Given the description of an element on the screen output the (x, y) to click on. 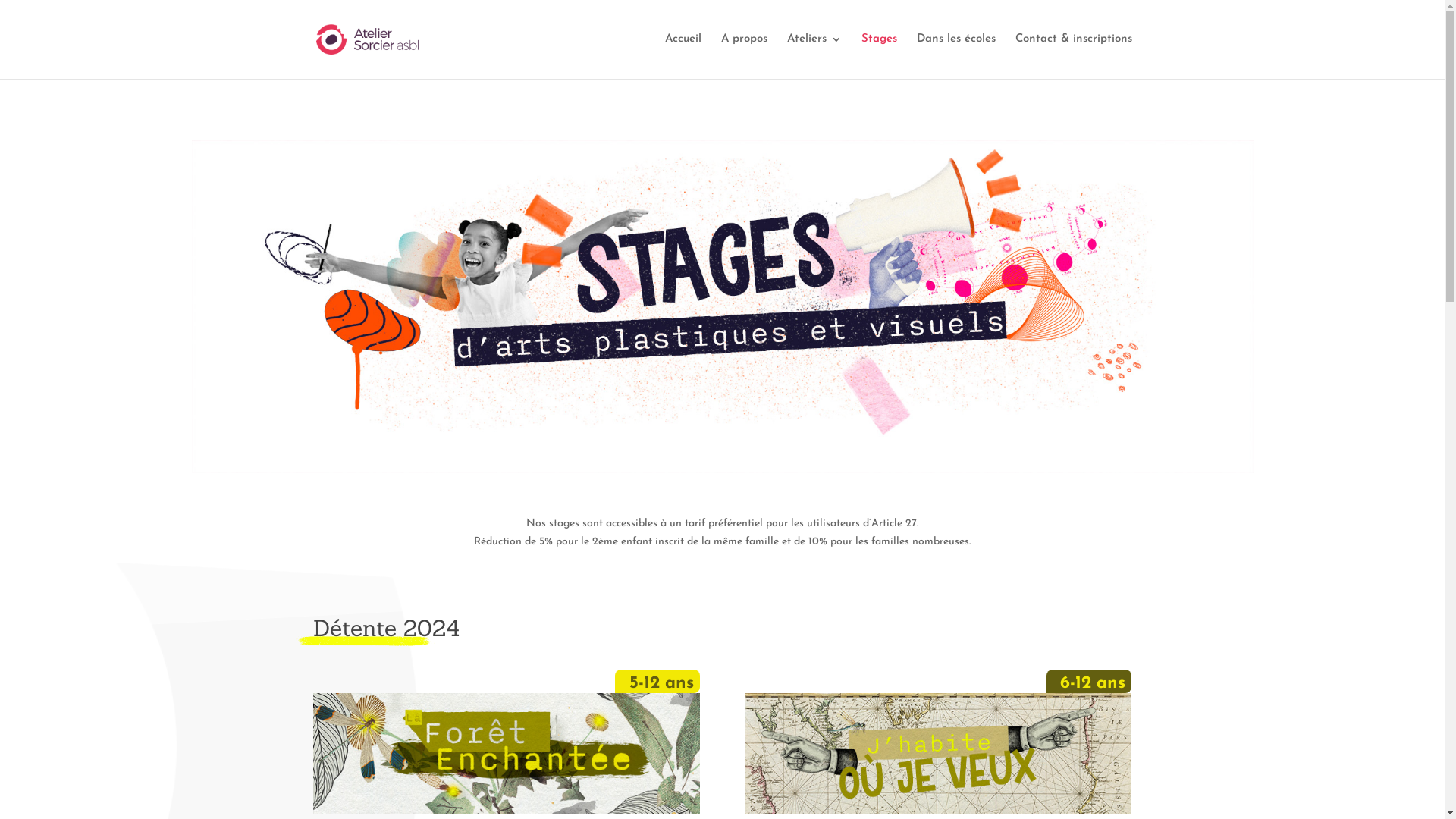
feutre-trait_Sd Element type: hover (364, 641)
Contact & inscriptions Element type: text (1072, 56)
bandeau_stage Element type: hover (721, 306)
Stages Element type: text (879, 56)
Ateliers Element type: text (814, 56)
A propos Element type: text (743, 56)
Accueil Element type: text (682, 56)
